Given the description of an element on the screen output the (x, y) to click on. 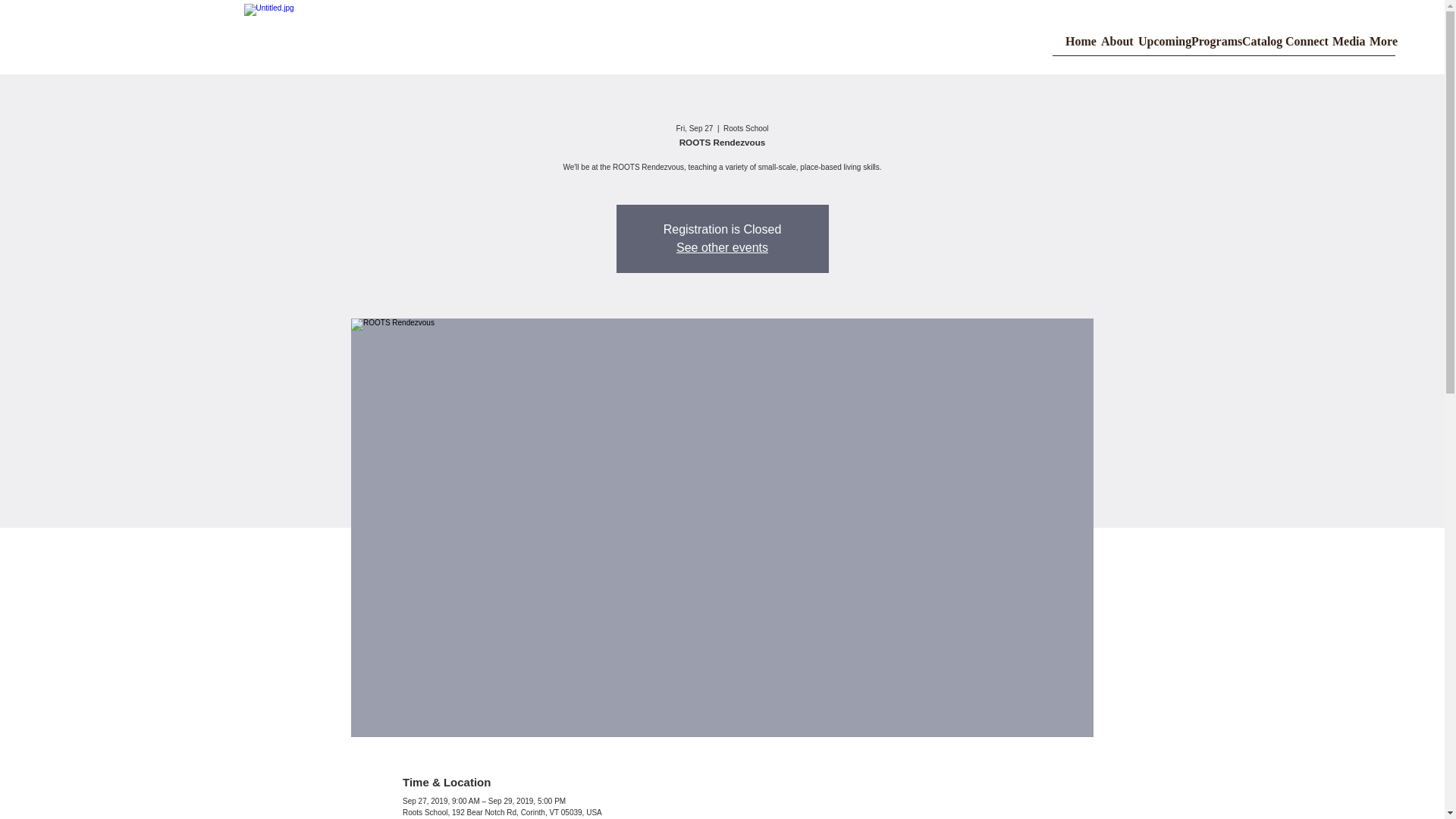
2560x1440-white-solid-color-background.jpg (494, 37)
Catalog (1254, 46)
Home (1075, 46)
Programs (1207, 46)
About (1111, 46)
See other events (722, 246)
Upcoming (1155, 46)
